Given the description of an element on the screen output the (x, y) to click on. 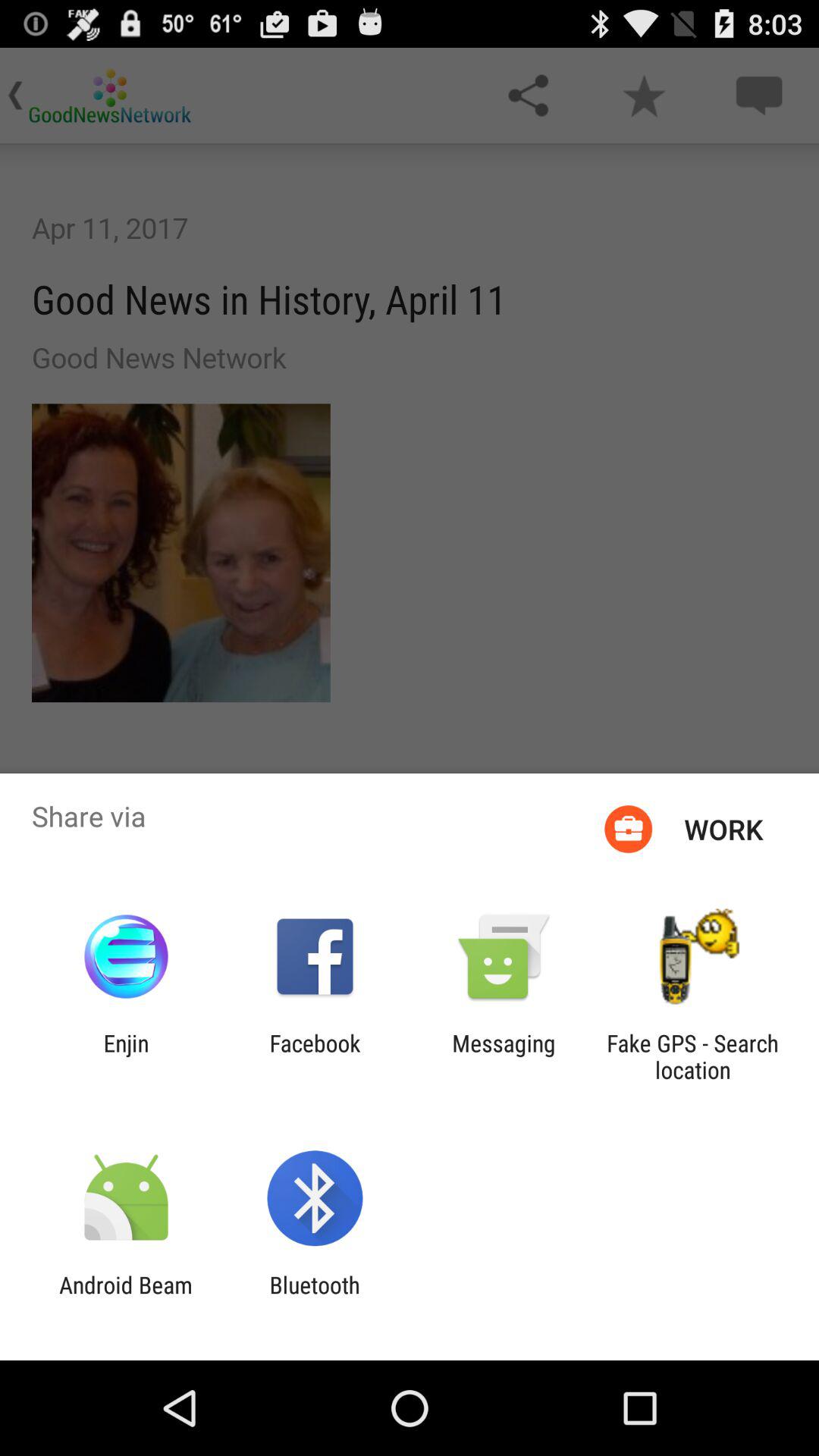
select the app to the right of facebook item (503, 1056)
